Given the description of an element on the screen output the (x, y) to click on. 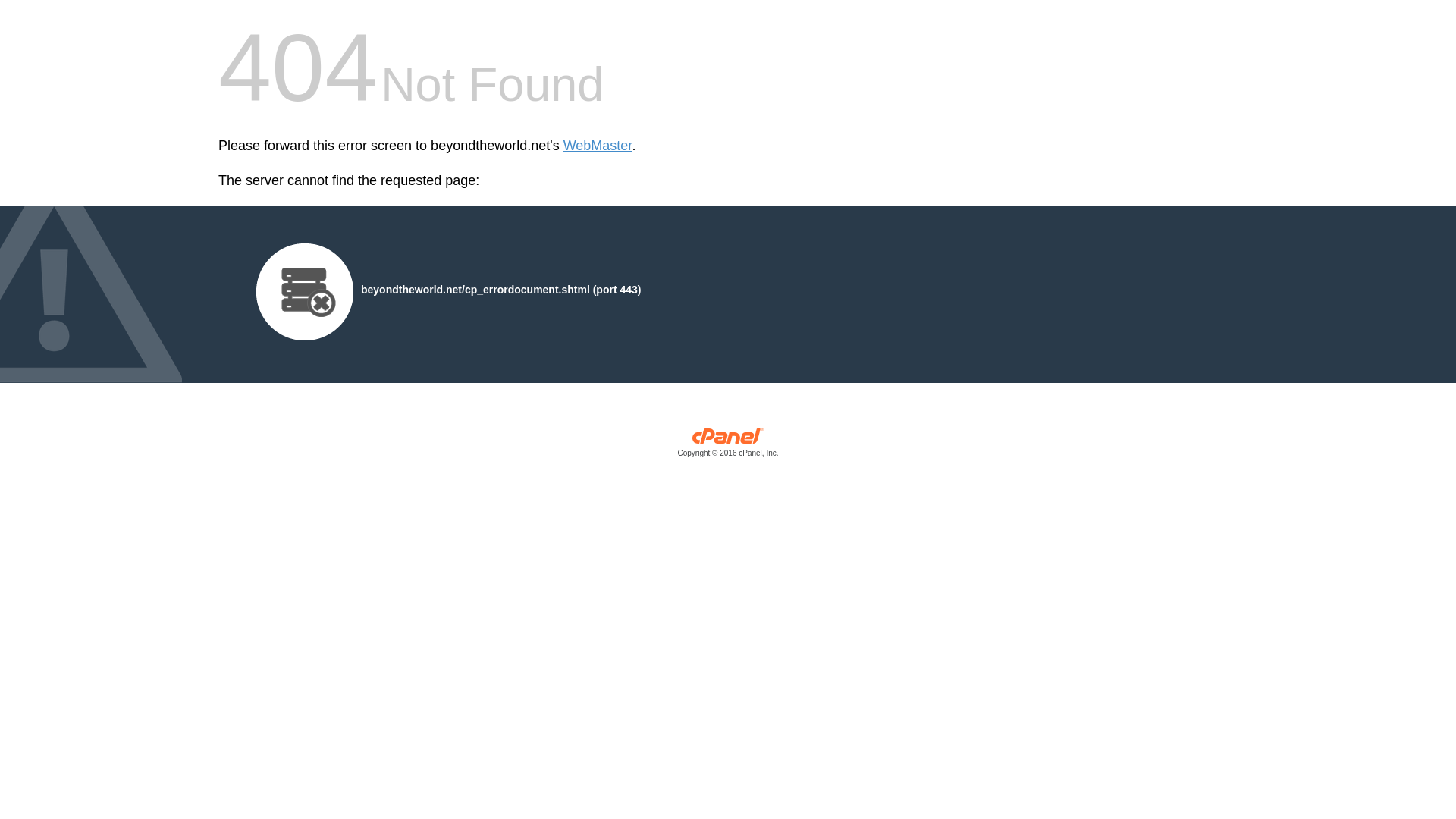
cPanel, Inc. (727, 446)
WebMaster (597, 145)
